Given the description of an element on the screen output the (x, y) to click on. 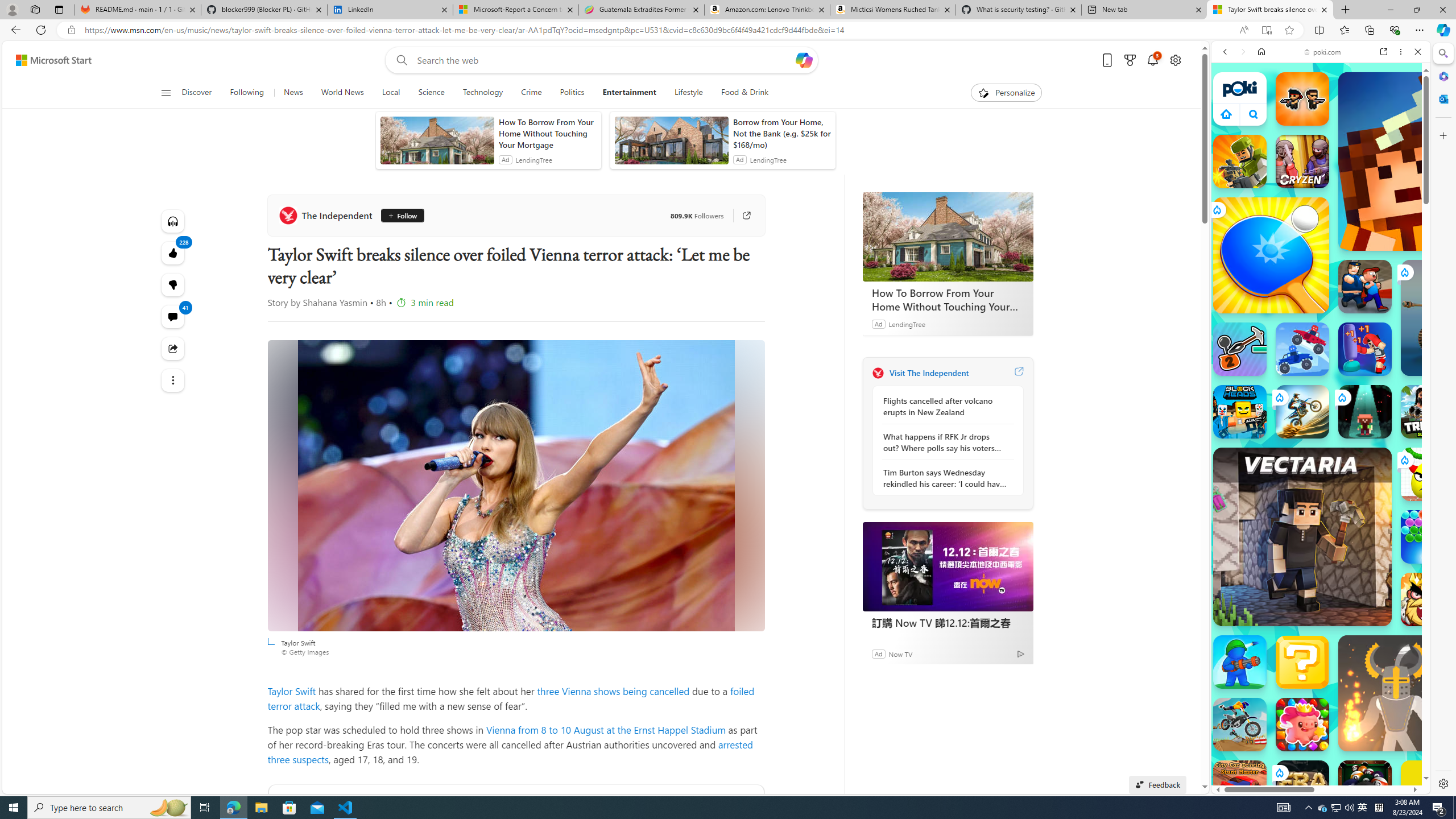
Ragdoll Hit (1396, 693)
Io Games (1320, 351)
anim-content (671, 144)
Crazy Bikes Crazy Bikes (1239, 724)
